Given the description of an element on the screen output the (x, y) to click on. 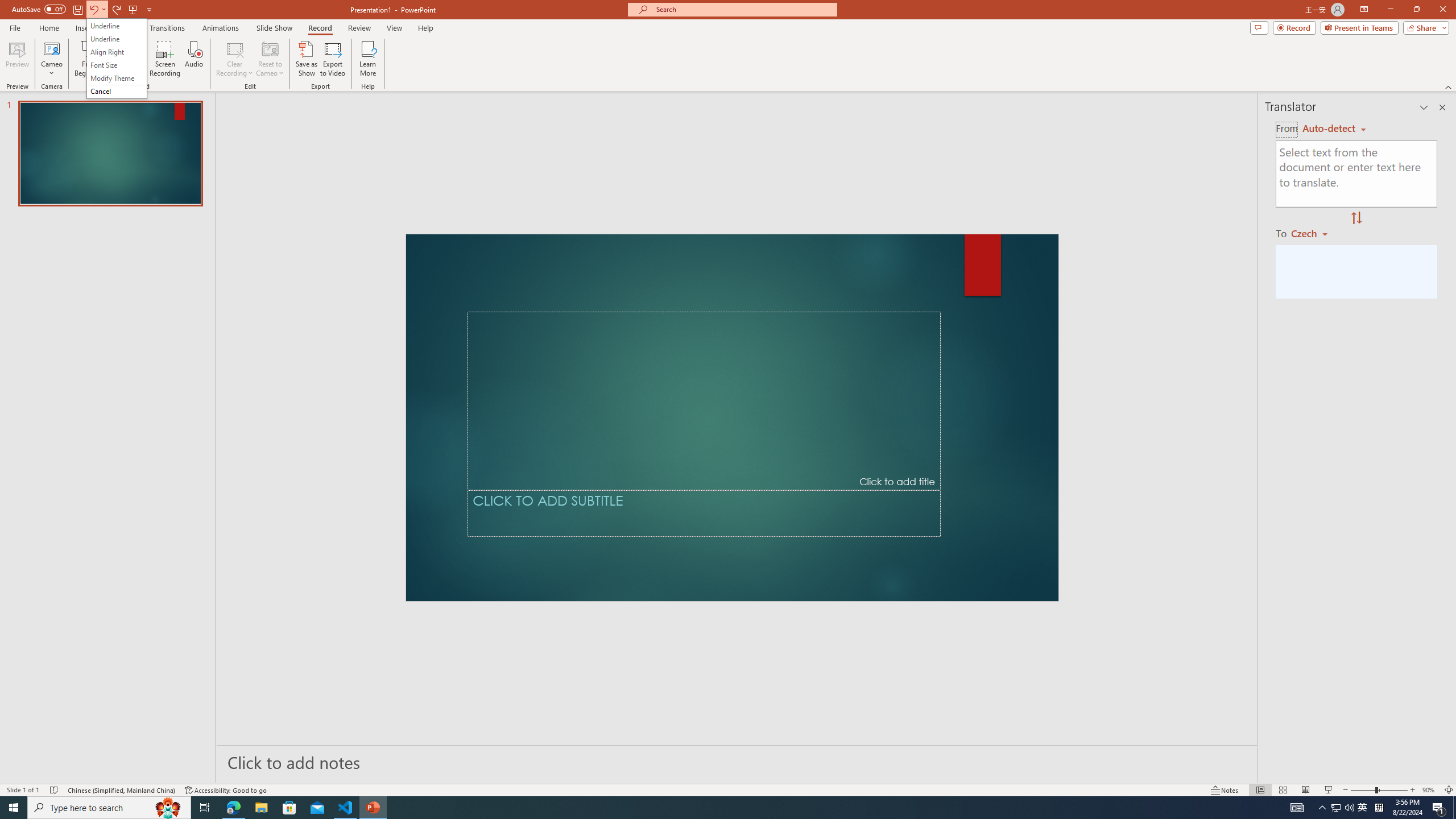
Save as Show (306, 58)
Running applications (707, 807)
Accessibility Checker Accessibility: Good to go (226, 790)
